Given the description of an element on the screen output the (x, y) to click on. 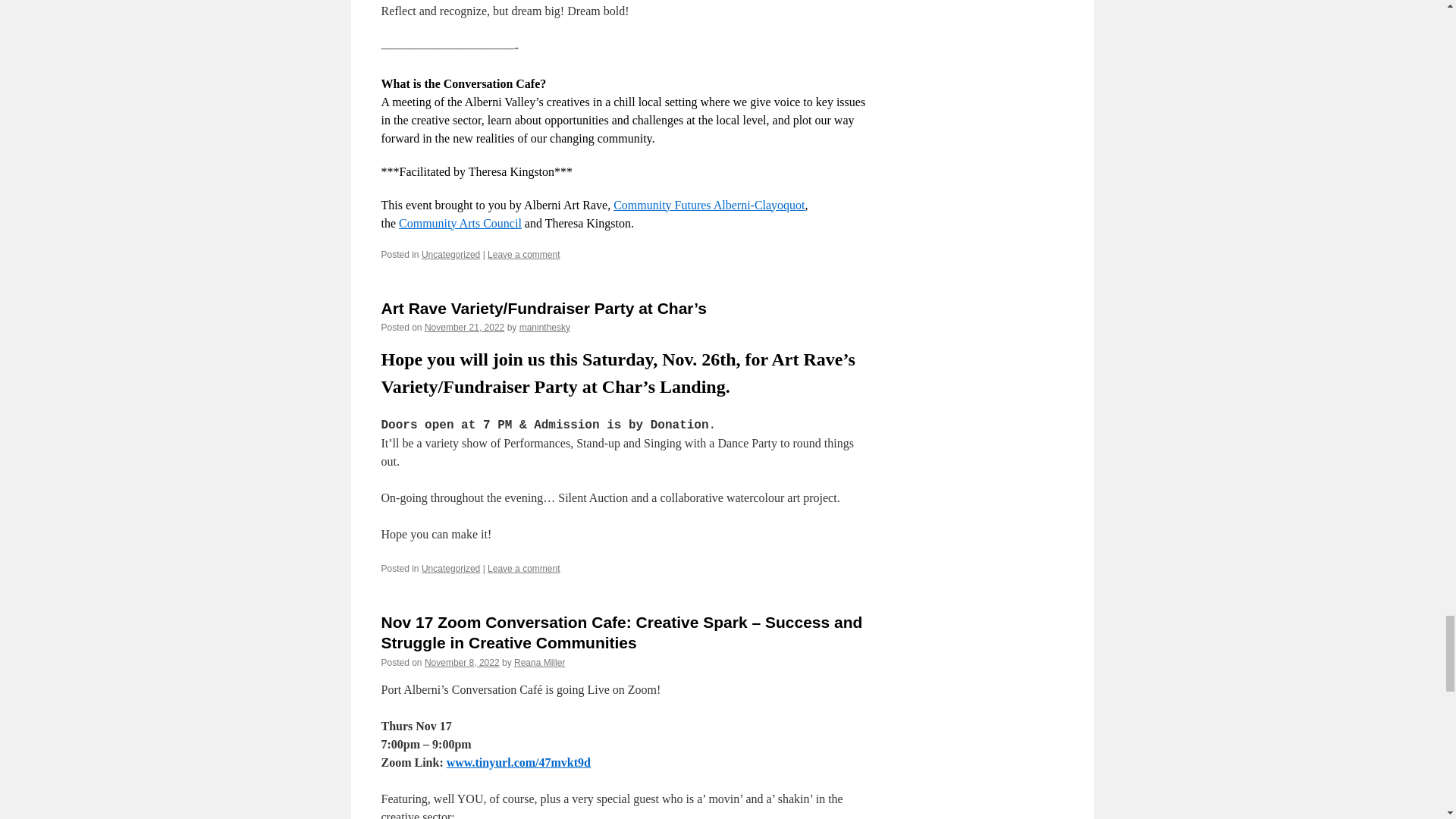
5:49 pm (464, 327)
